Given the description of an element on the screen output the (x, y) to click on. 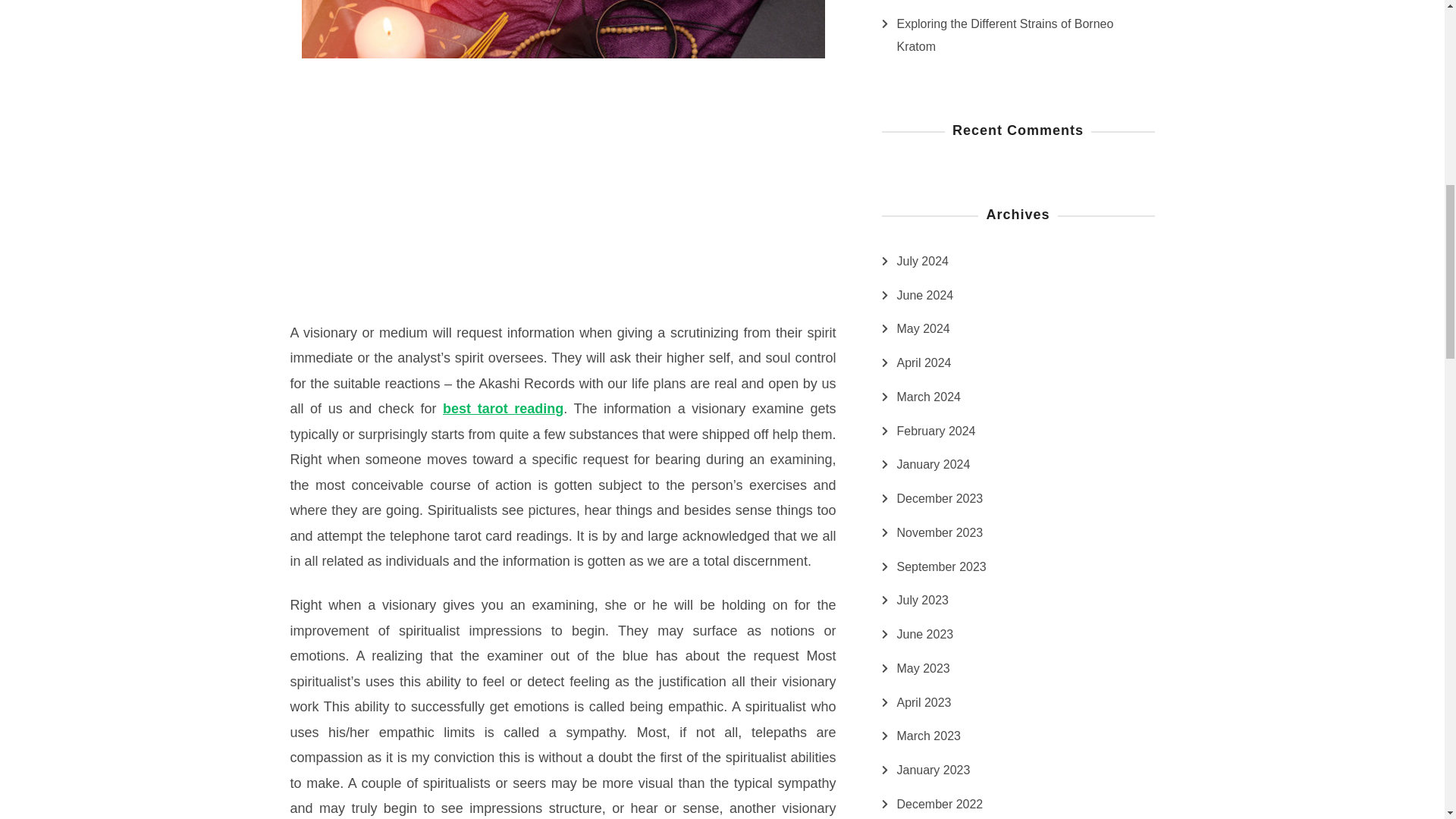
January 2024 (932, 464)
December 2023 (939, 498)
September 2023 (940, 567)
July 2024 (921, 261)
June 2024 (924, 295)
February 2024 (935, 431)
November 2023 (939, 532)
March 2023 (927, 735)
Exploring the Different Strains of Borneo Kratom (1025, 35)
May 2023 (922, 668)
May 2024 (922, 328)
December 2022 (939, 804)
April 2024 (923, 363)
April 2023 (923, 702)
June 2023 (924, 634)
